Given the description of an element on the screen output the (x, y) to click on. 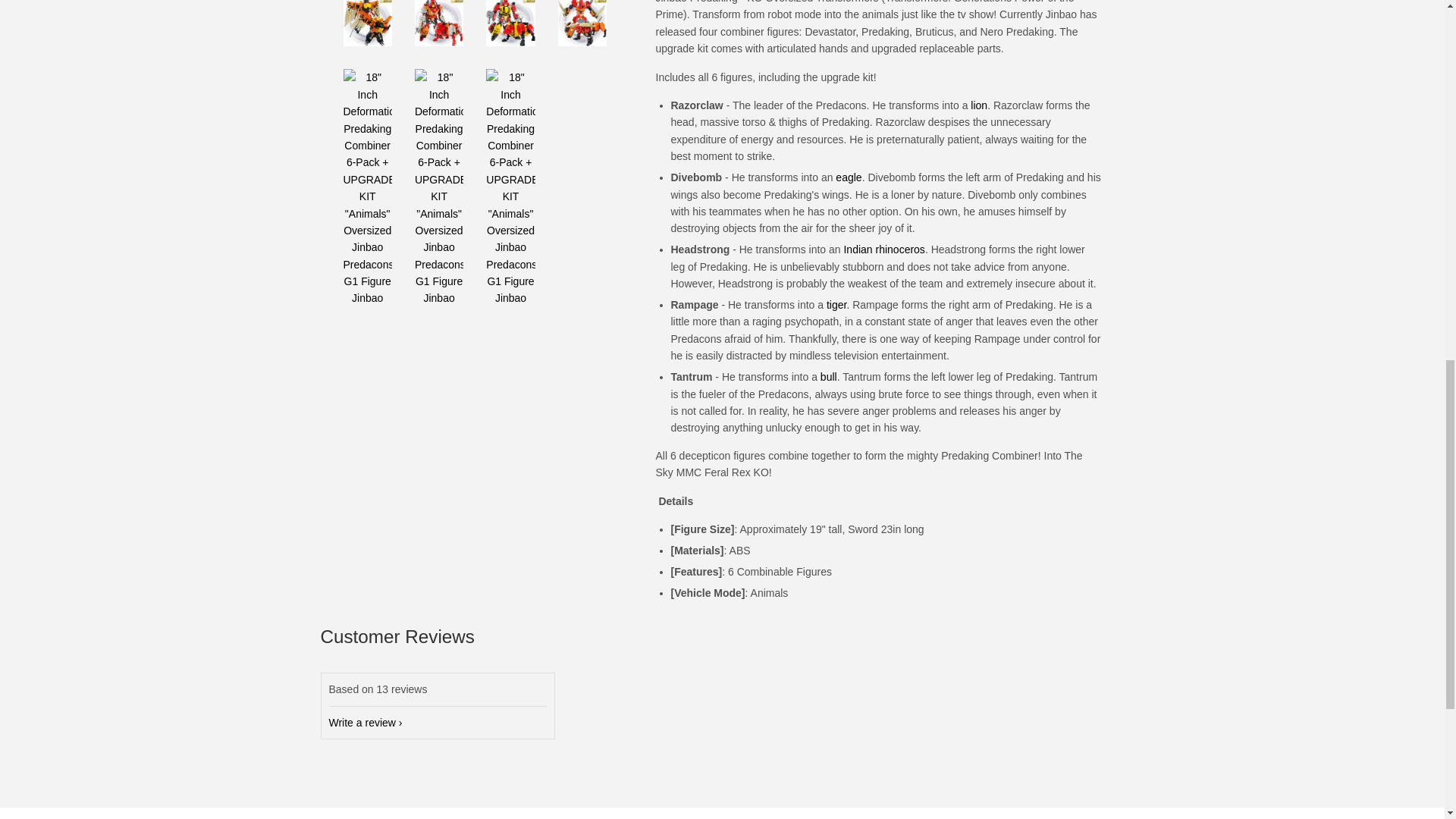
Tiger (836, 304)
Indian rhinoceros (883, 249)
Lion (979, 105)
Eagle (848, 177)
Cattle (829, 377)
